Given the description of an element on the screen output the (x, y) to click on. 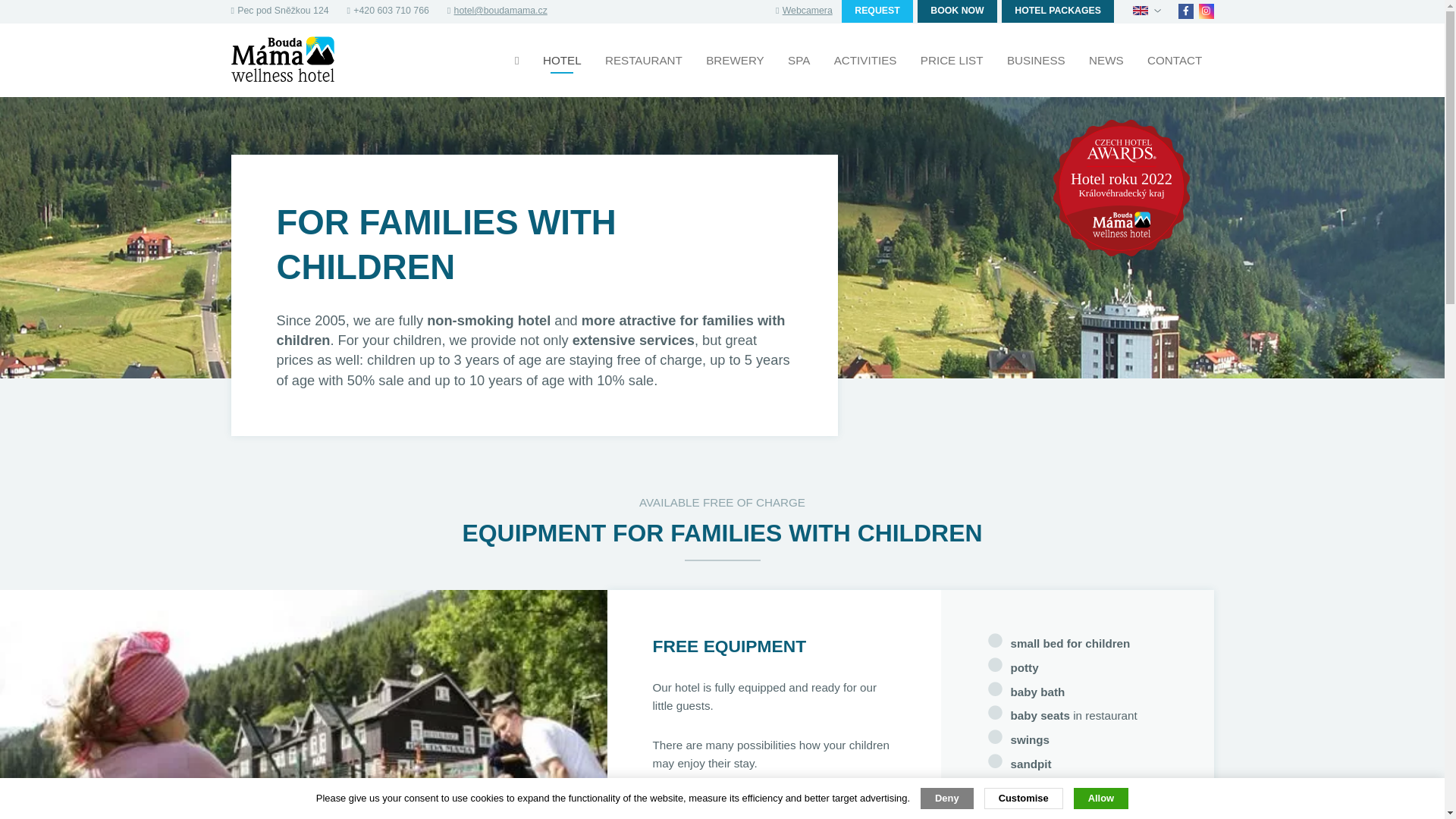
BOOK NOW (957, 11)
PRICE LIST (951, 60)
Webcamera (807, 9)
HOTEL PACKAGES (1057, 11)
BREWERY (735, 60)
English (1139, 9)
RESTAURANT (644, 60)
ACTIVITIES (865, 60)
REQUEST (876, 11)
